Given the description of an element on the screen output the (x, y) to click on. 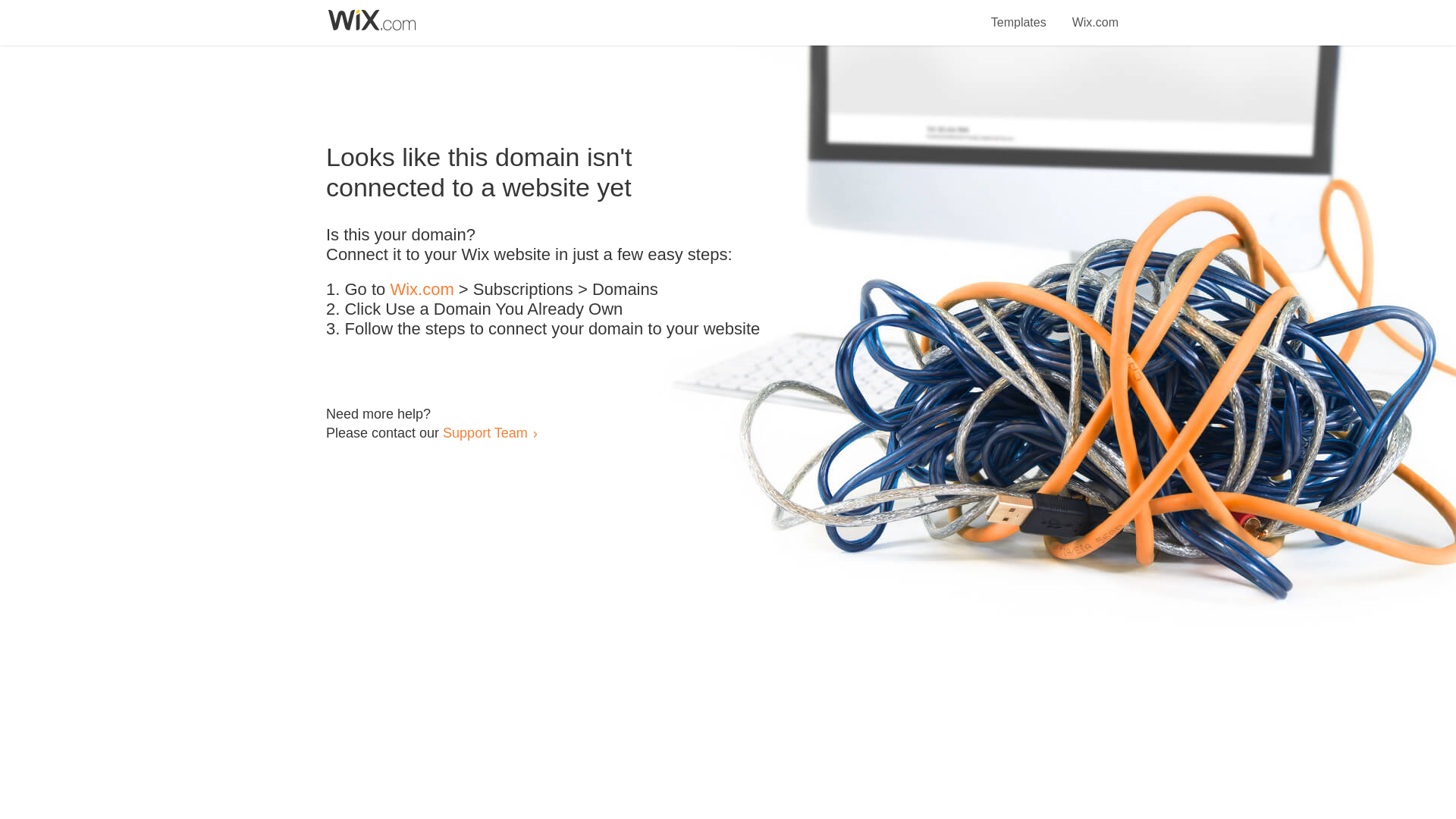
Support Team (484, 432)
Wix.com (1095, 14)
Wix.com (421, 289)
Templates (1018, 14)
